Given the description of an element on the screen output the (x, y) to click on. 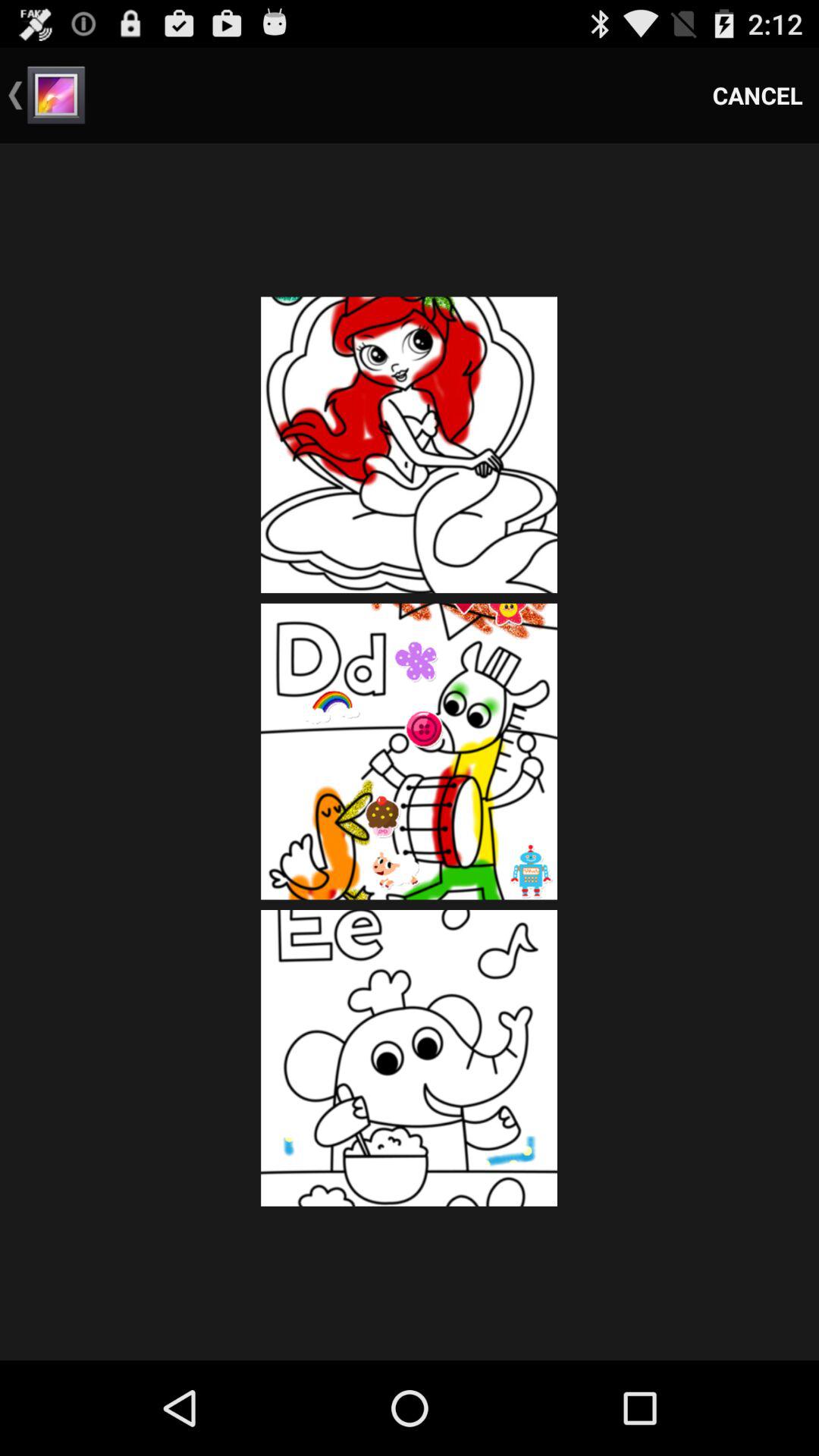
press the icon at the top right corner (757, 95)
